Given the description of an element on the screen output the (x, y) to click on. 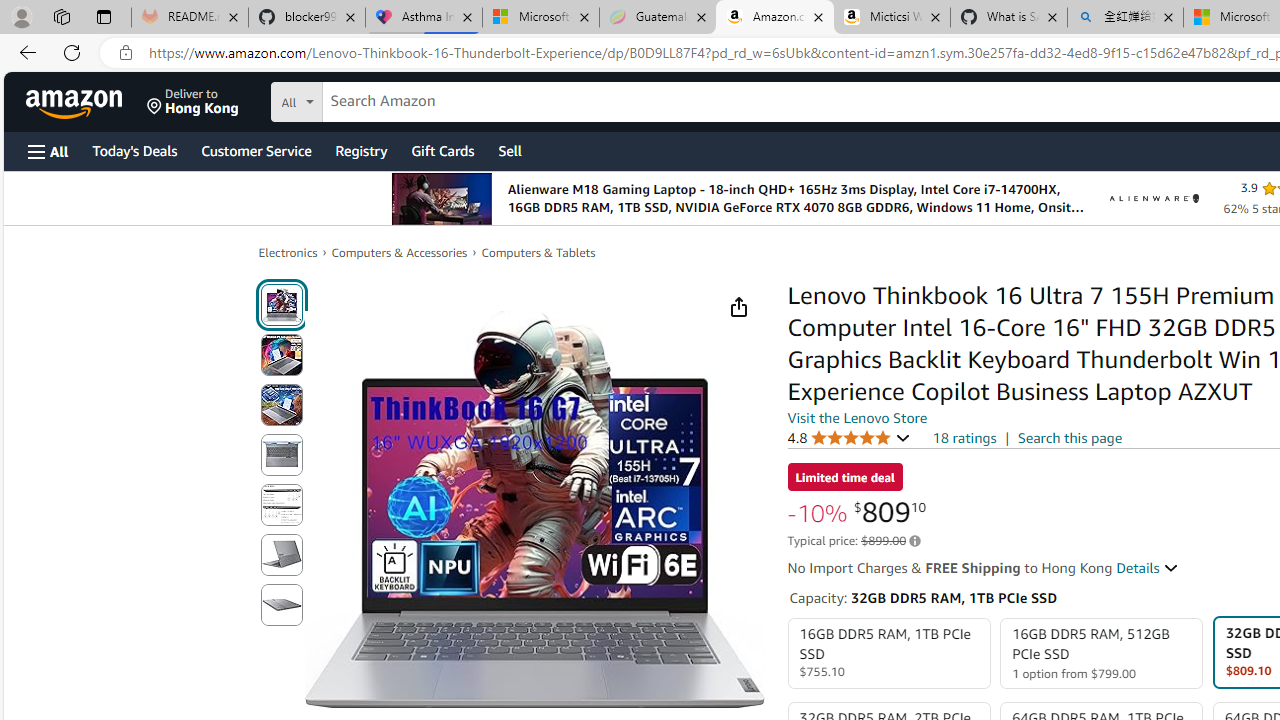
Sell (509, 150)
Search this page (1069, 437)
Asthma Inhalers: Names and Types (424, 17)
Share (738, 307)
Visit the Lenovo Store (857, 417)
Electronics (287, 251)
Customer Service (256, 150)
16GB DDR5 RAM, 1TB PCIe SSD $755.10 (888, 653)
Deliver to Hong Kong (193, 101)
Learn more about Amazon pricing and savings (914, 541)
Gift Cards (442, 150)
